Given the description of an element on the screen output the (x, y) to click on. 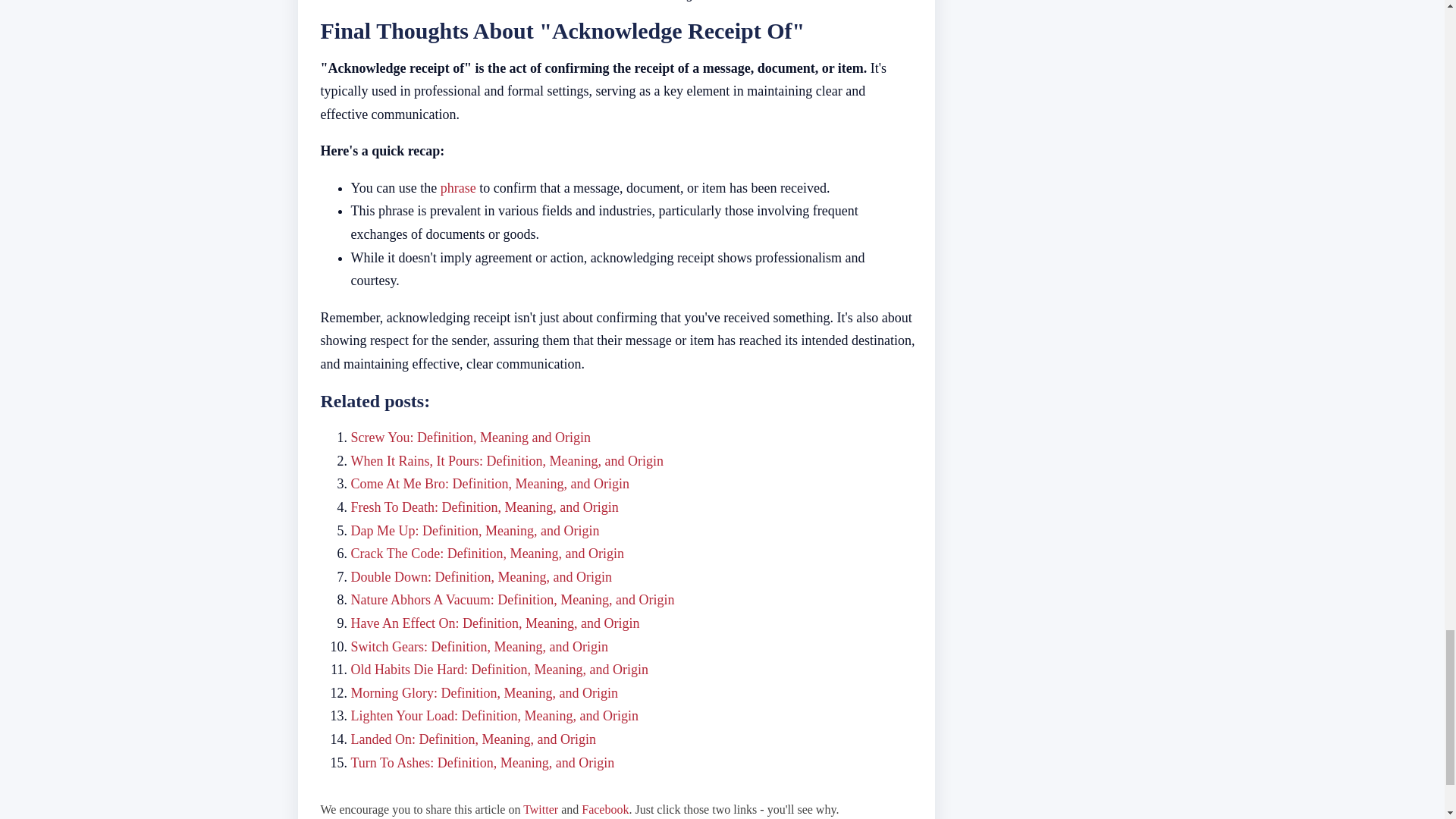
Screw You: Definition, Meaning and Origin (469, 437)
Twitter (539, 809)
Screw You: Definition, Meaning and Origin (469, 437)
Fresh To Death: Definition, Meaning, and Origin (483, 507)
Nature Abhors A Vacuum: Definition, Meaning, and Origin (512, 599)
Morning Glory: Definition, Meaning, and Origin (483, 693)
Old Habits Die Hard: Definition, Meaning, and Origin (498, 669)
When It Rains, It Pours: Definition, Meaning, and Origin (506, 460)
Landed On: Definition, Meaning, and Origin (472, 739)
Have An Effect On: Definition, Meaning, and Origin (494, 622)
